Given the description of an element on the screen output the (x, y) to click on. 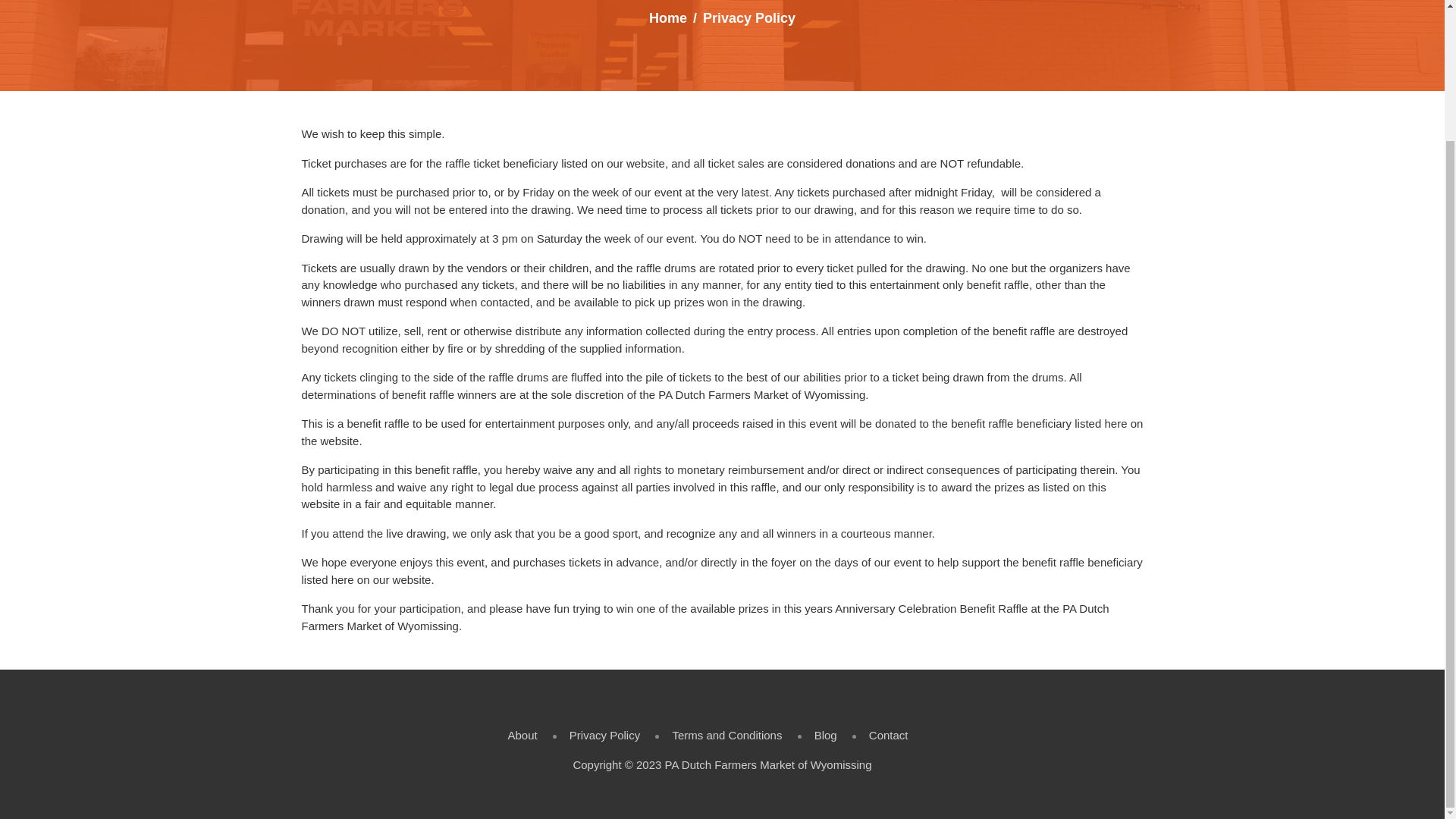
Home (668, 17)
About (521, 735)
Terms and Conditions (726, 735)
Contact (888, 735)
Privacy Policy (604, 735)
Blog (825, 735)
